Given the description of an element on the screen output the (x, y) to click on. 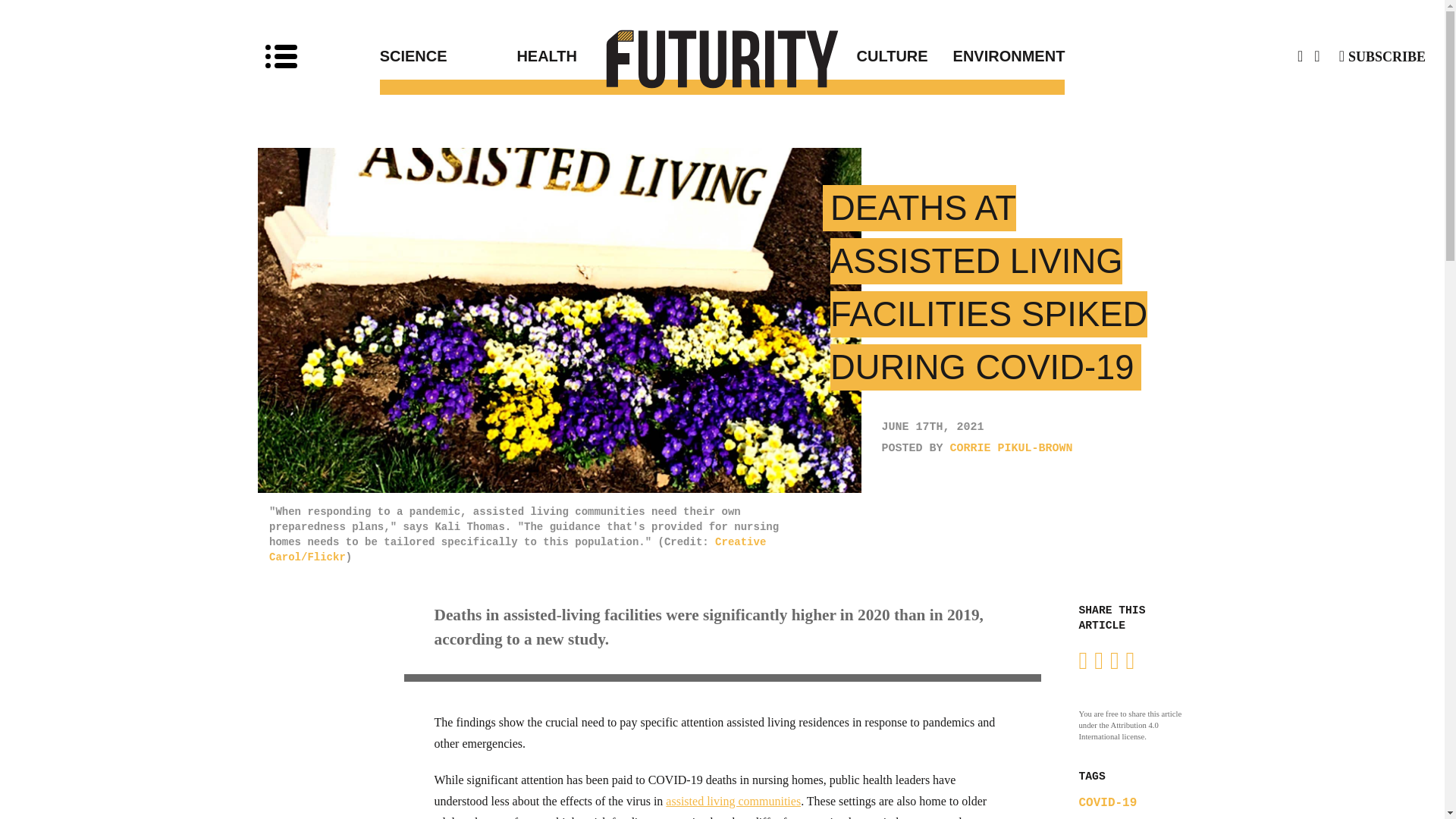
SCIENCE (448, 55)
HEALTH (619, 55)
Health (619, 55)
Environment (996, 55)
CULTURE (824, 55)
COVID-19 (1107, 802)
Culture (824, 55)
Science (448, 55)
CORRIE PIKUL-BROWN (1011, 448)
SUBSCRIBE (1382, 56)
